Given the description of an element on the screen output the (x, y) to click on. 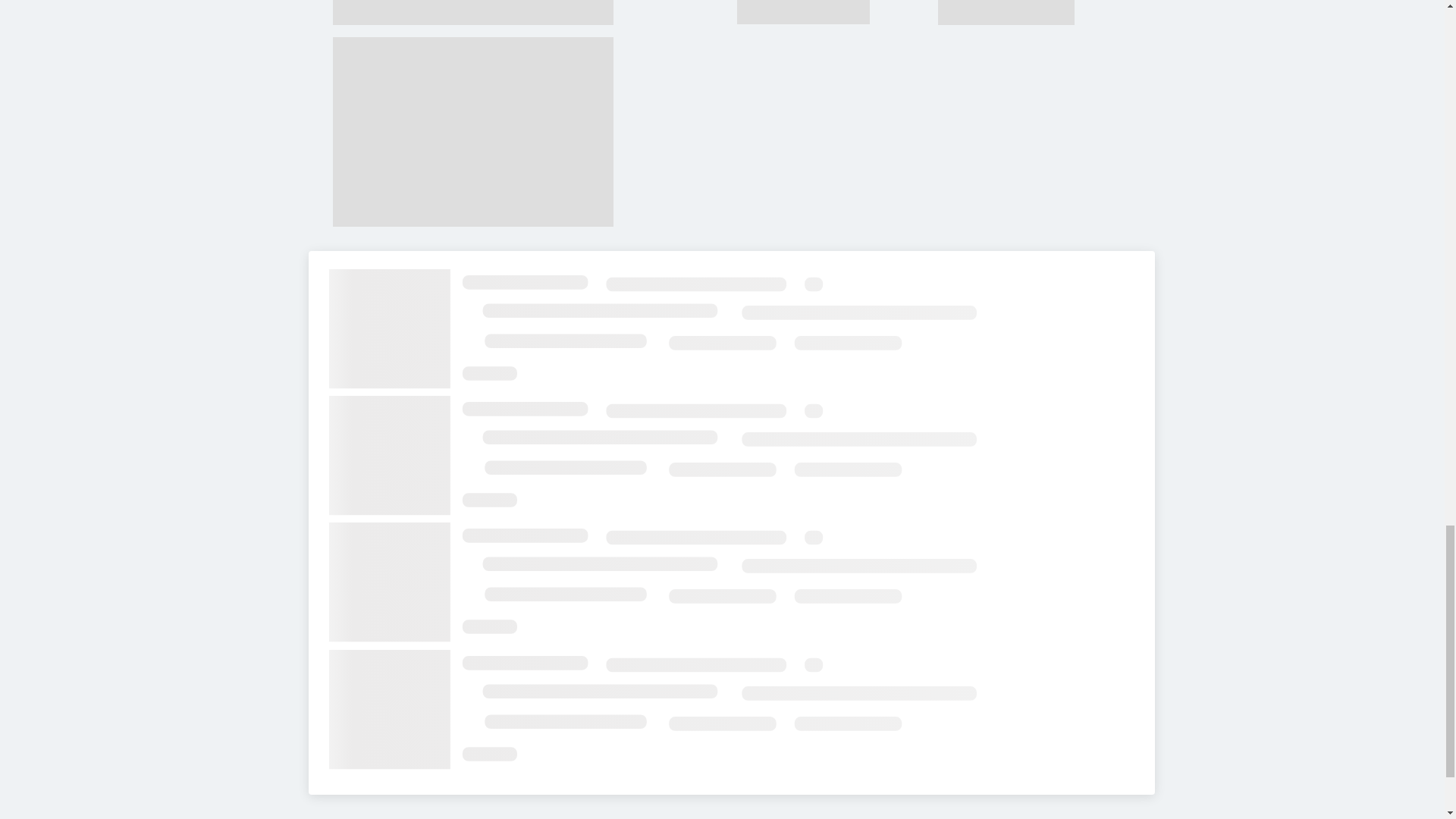
Loading interface... (730, 710)
Loading interface... (730, 582)
Loading interface... (730, 456)
Loading interface... (730, 329)
